Given the description of an element on the screen output the (x, y) to click on. 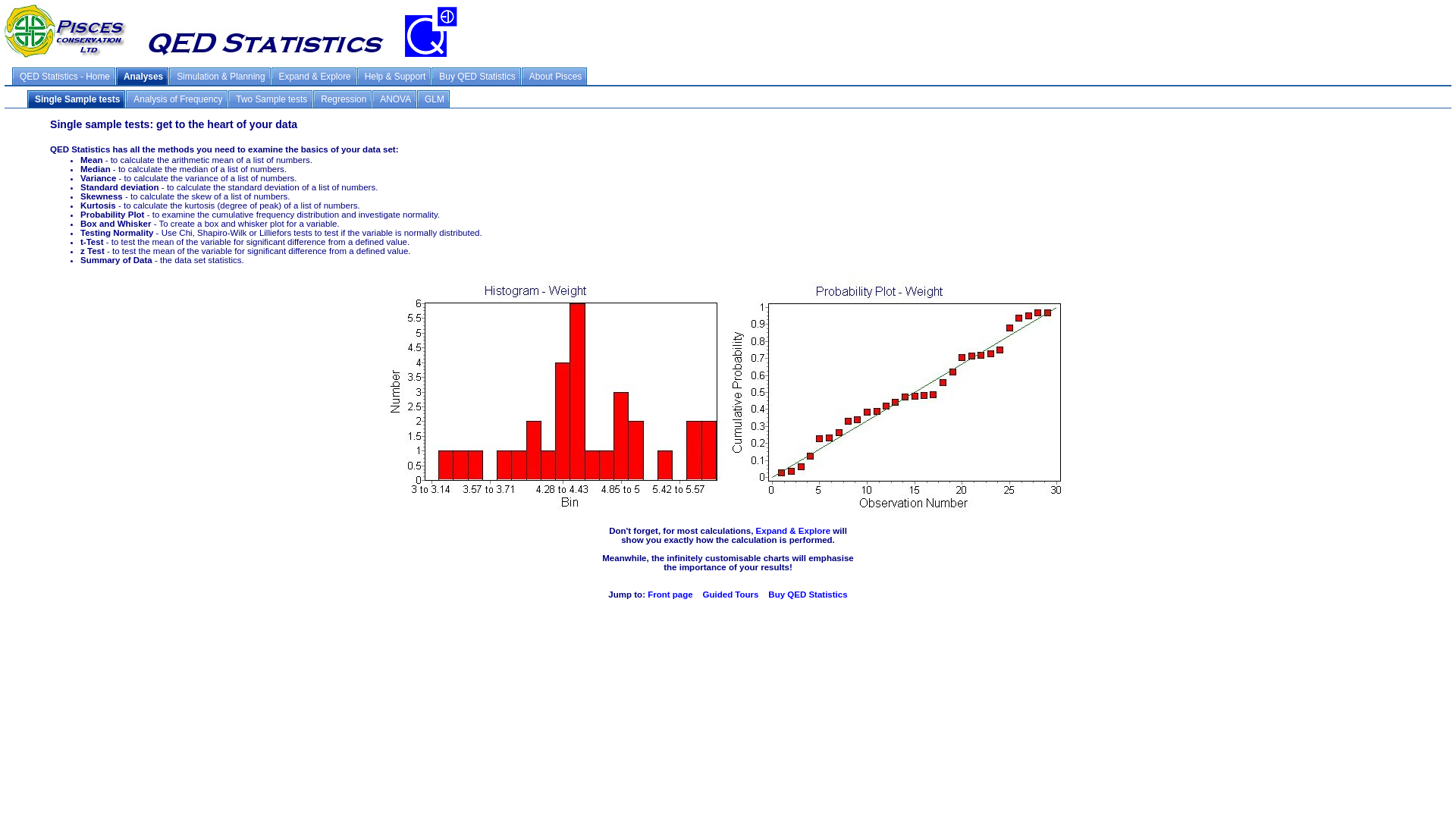
Front page (670, 593)
About Pisces (554, 76)
Analyses (142, 76)
ANOVA (394, 98)
Analysis of Frequency (176, 98)
Buy QED Statistics (475, 76)
Regression (342, 98)
Two Sample tests (270, 98)
QED Statistics - Home (63, 76)
Single Sample tests (76, 98)
